Given the description of an element on the screen output the (x, y) to click on. 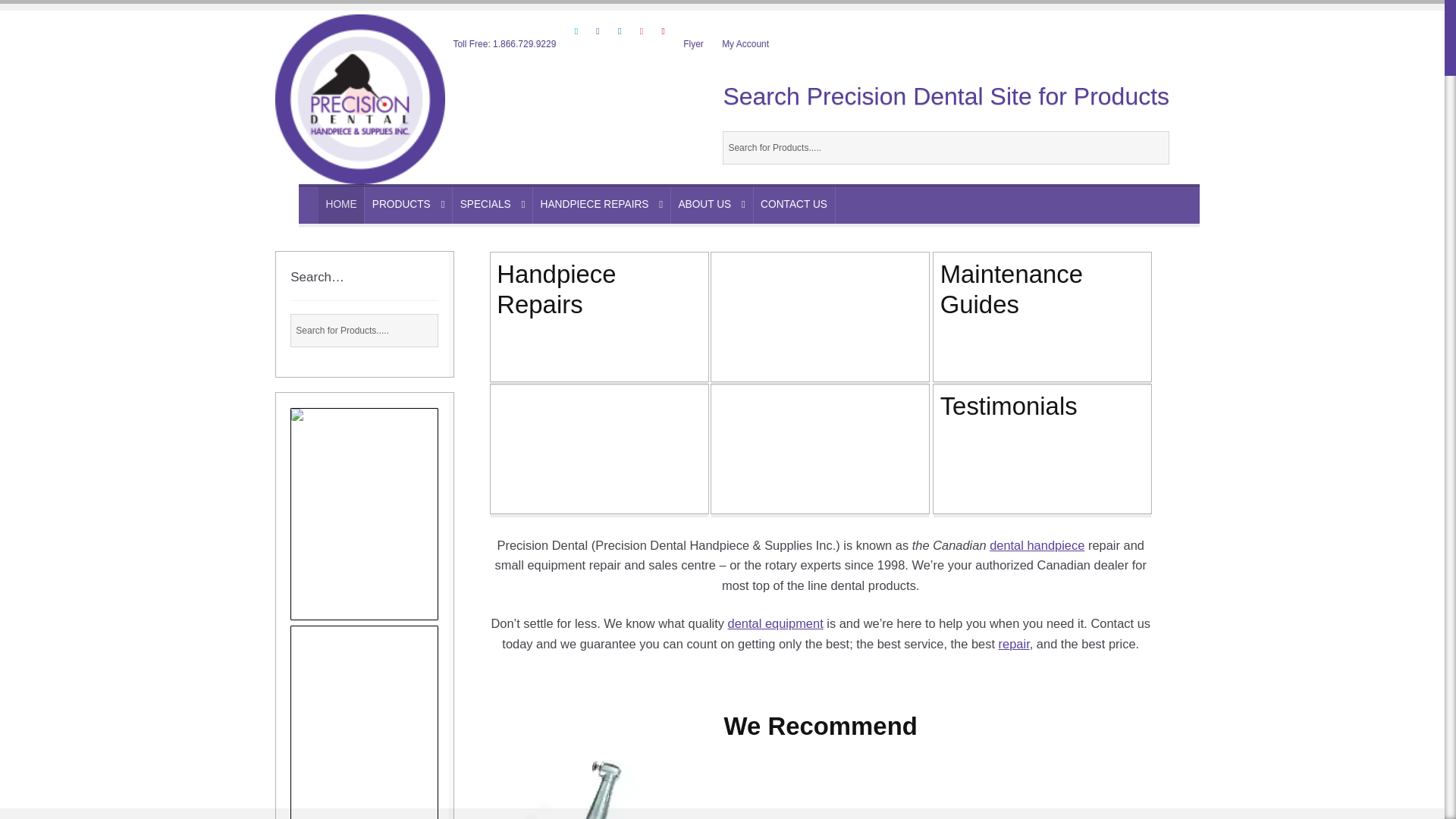
Flyer (693, 44)
Toll Free: 1.866.729.9229 (504, 44)
PRODUCTS (408, 205)
HANDPIECE REPAIRS (600, 205)
HOME (341, 205)
SPECIALS (492, 205)
My Account (745, 44)
